Given the description of an element on the screen output the (x, y) to click on. 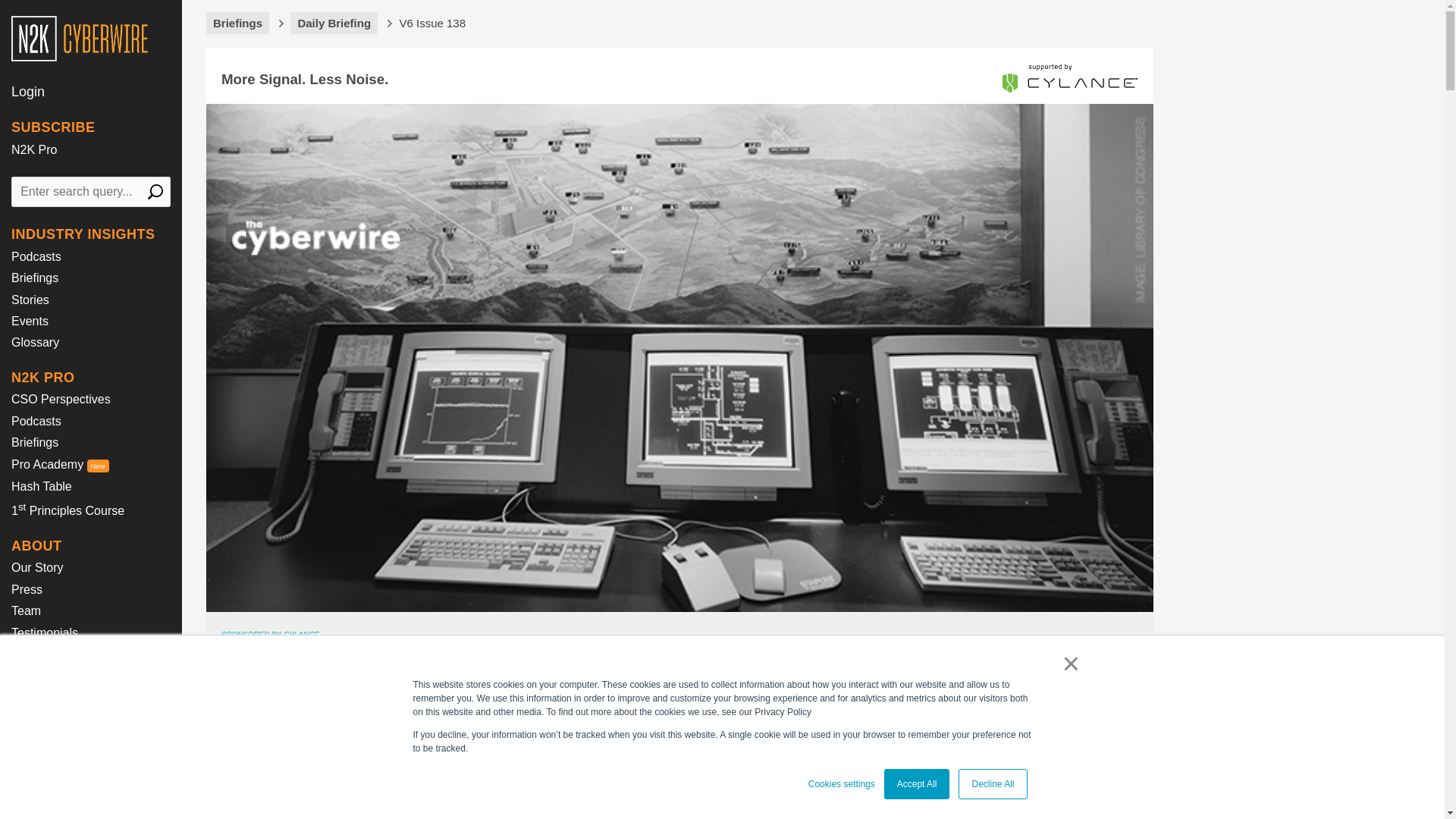
Glossary (35, 341)
API (20, 731)
Our Story (36, 567)
Podcasts (36, 256)
Accept All (916, 784)
Hash Table (41, 486)
CSO Perspectives (60, 399)
Team (25, 610)
Briefings (34, 441)
Partners (33, 675)
